Given the description of an element on the screen output the (x, y) to click on. 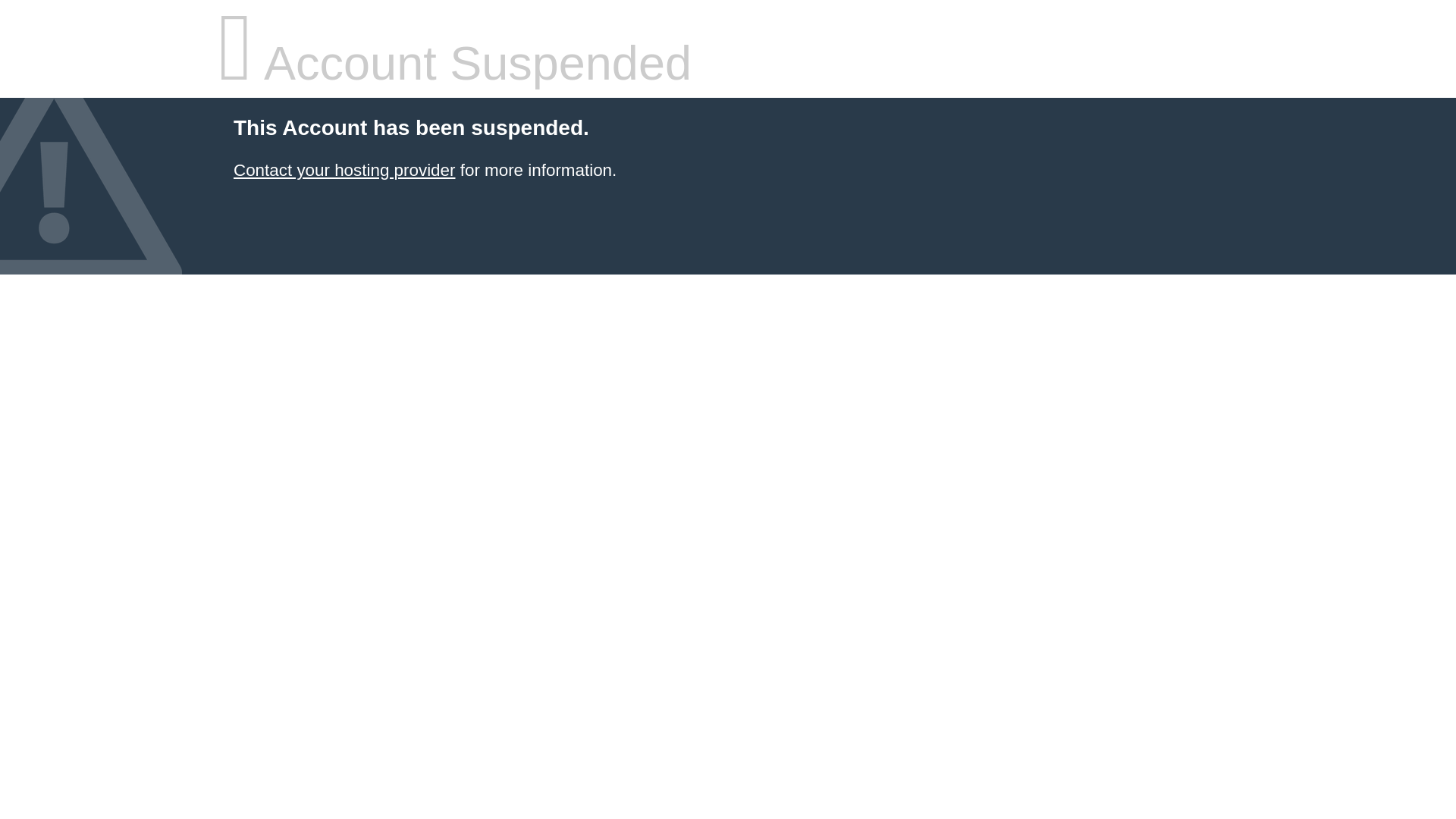
Contact your hosting provider (343, 169)
